Given the description of an element on the screen output the (x, y) to click on. 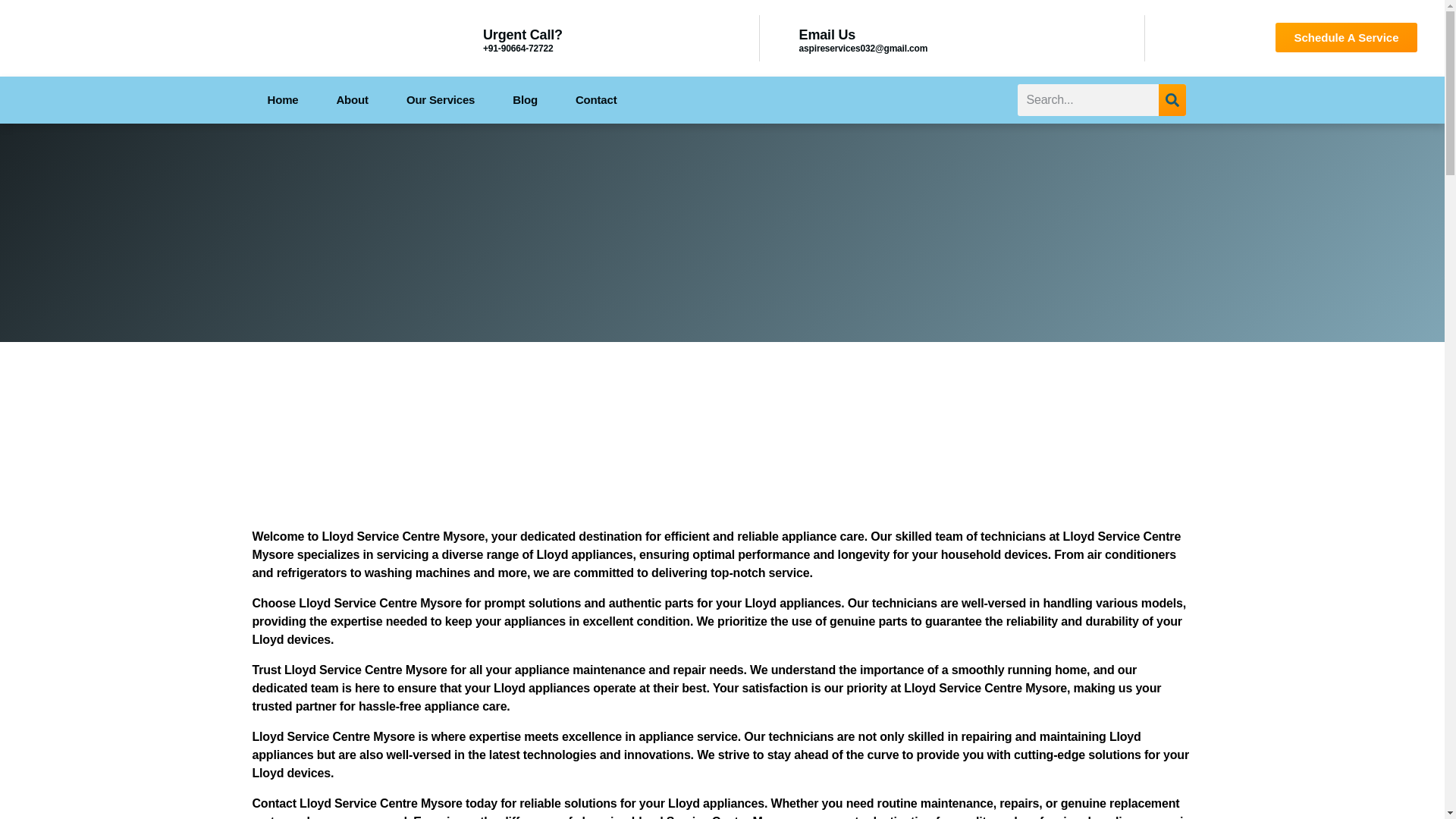
Urgent Call? (522, 34)
Email Us (827, 34)
Our Services (440, 100)
Contact (596, 100)
Schedule A Service (1345, 37)
